Given the description of an element on the screen output the (x, y) to click on. 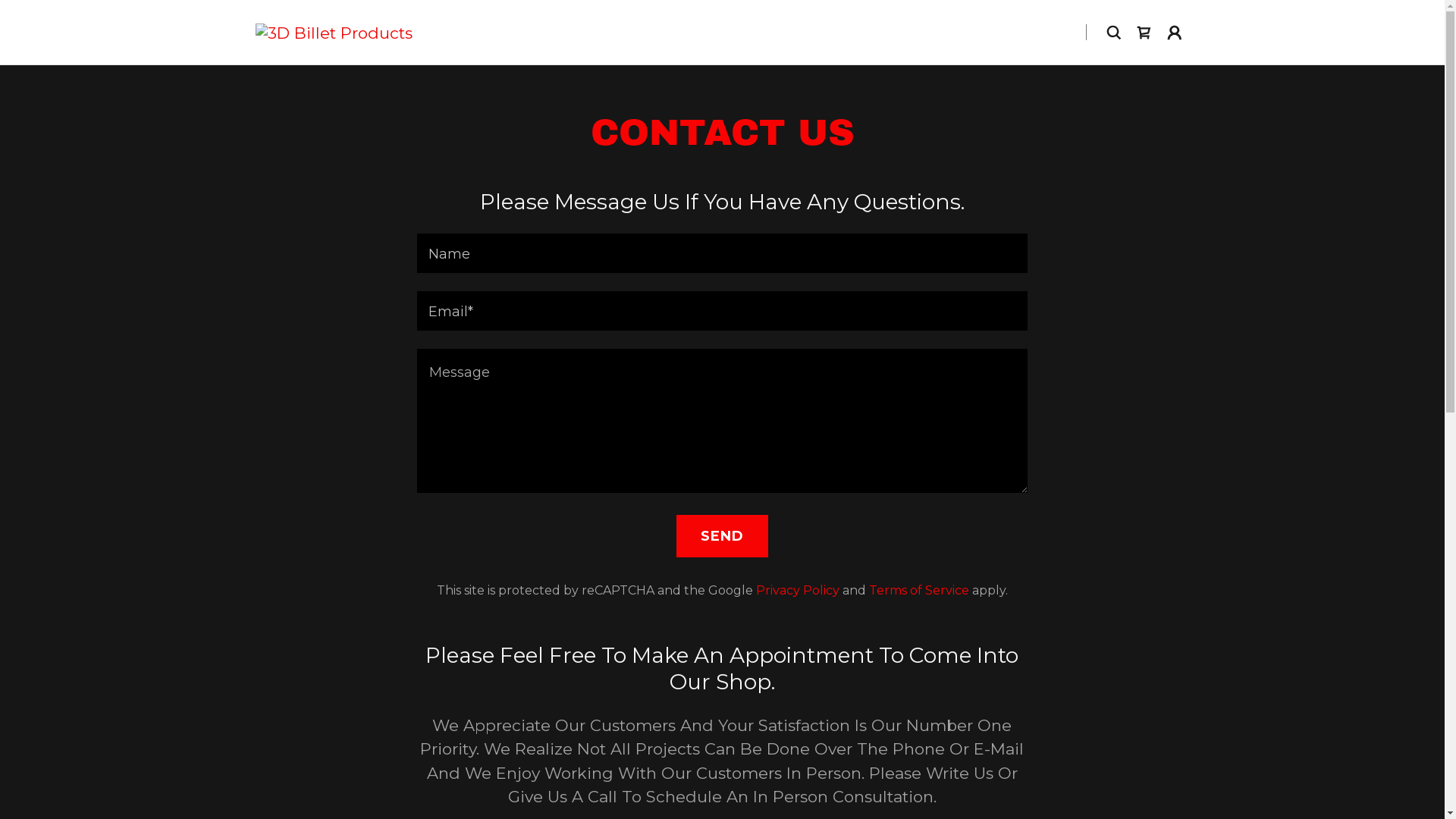
Privacy Policy Element type: text (797, 590)
3D Billet Products Element type: hover (332, 30)
Terms of Service Element type: text (919, 590)
SEND Element type: text (722, 535)
